Given the description of an element on the screen output the (x, y) to click on. 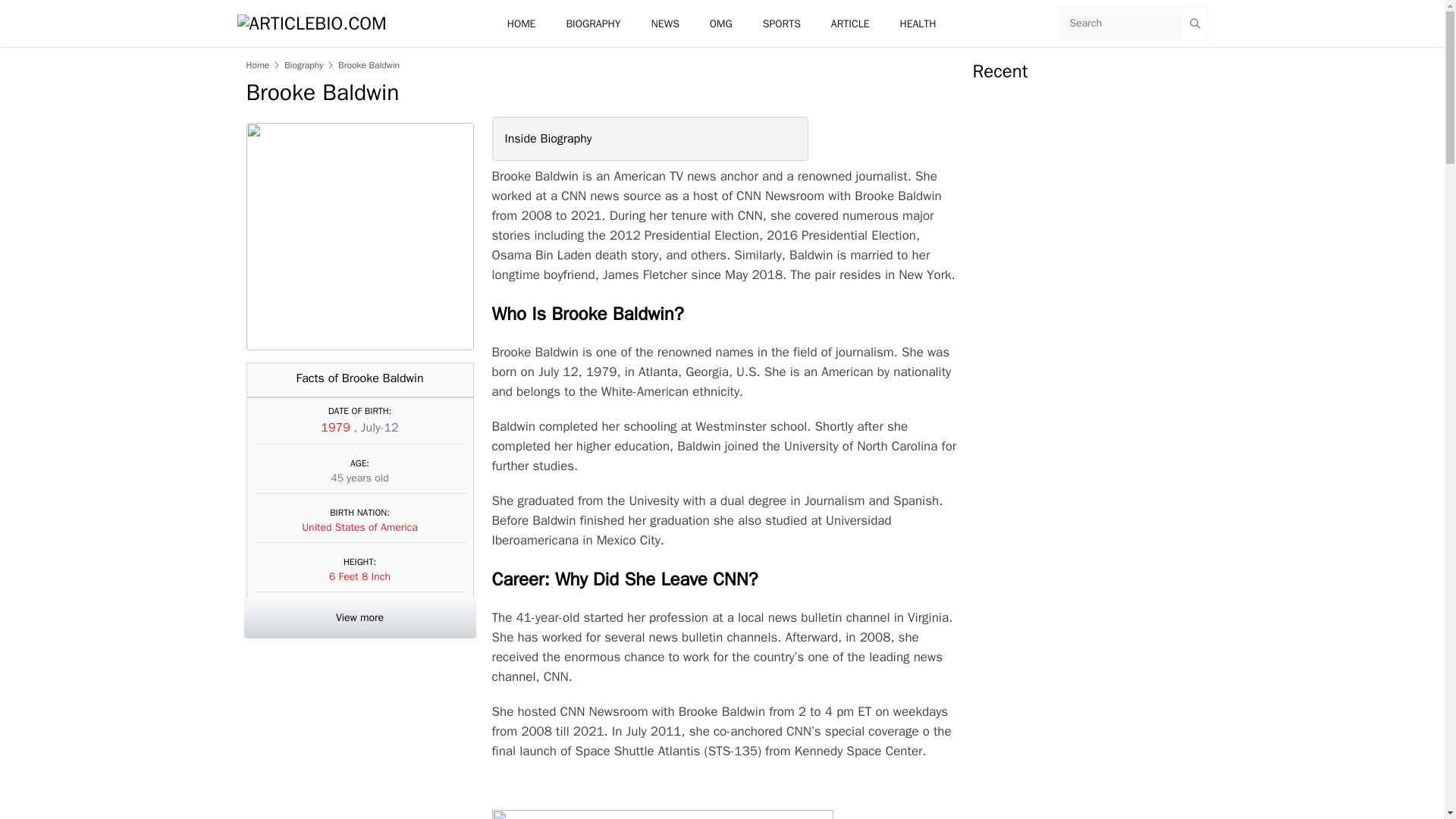
United States of America (359, 526)
July-12 (379, 427)
OMG (721, 23)
BIOGRAPHY (593, 23)
SPORTS (781, 23)
HEALTH (917, 23)
ARTICLE (850, 23)
6 Feet 8 Inch (359, 576)
Biography (303, 64)
Home (257, 64)
